Given the description of an element on the screen output the (x, y) to click on. 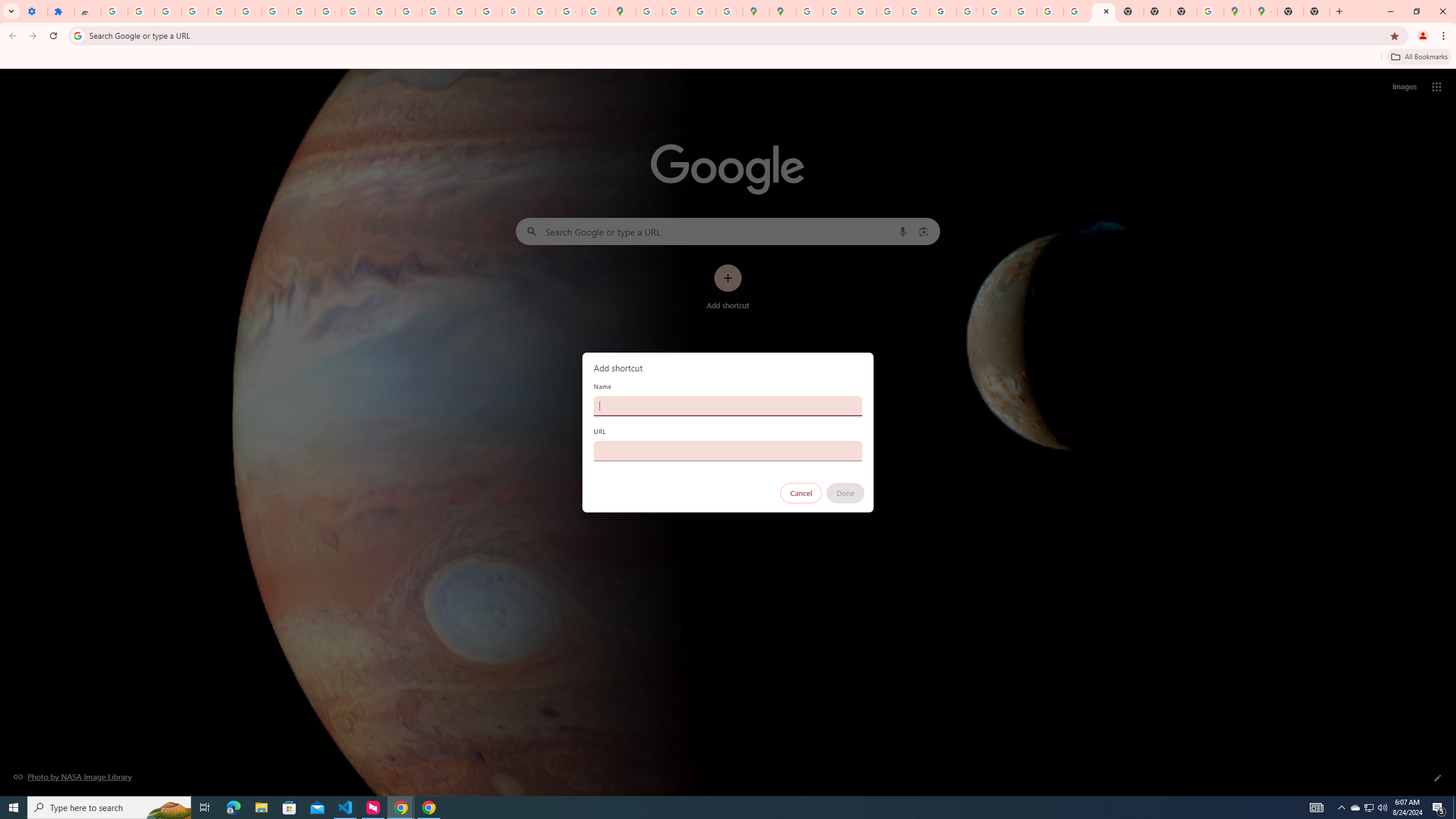
Privacy Help Center - Policies Help (408, 11)
Privacy Help Center - Policies Help (862, 11)
Google Maps (1236, 11)
URL (727, 450)
YouTube (970, 11)
